Given the description of an element on the screen output the (x, y) to click on. 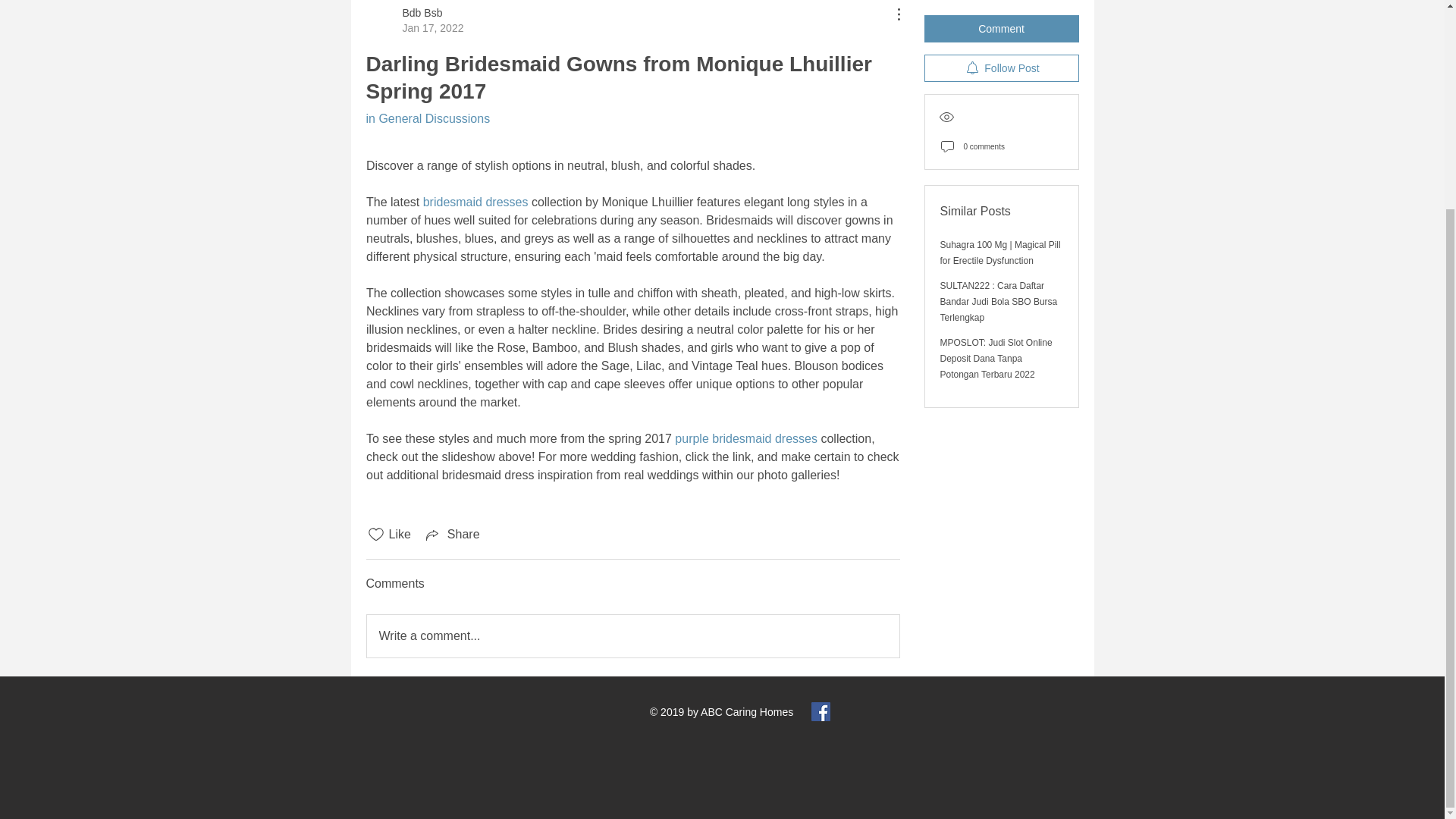
in General Discussions (427, 118)
bridesmaid dresses (474, 201)
purple bridesmaid dresses (745, 438)
Comment (1000, 18)
Share (451, 534)
Follow Post (1000, 58)
Write a comment... (632, 636)
